Given the description of an element on the screen output the (x, y) to click on. 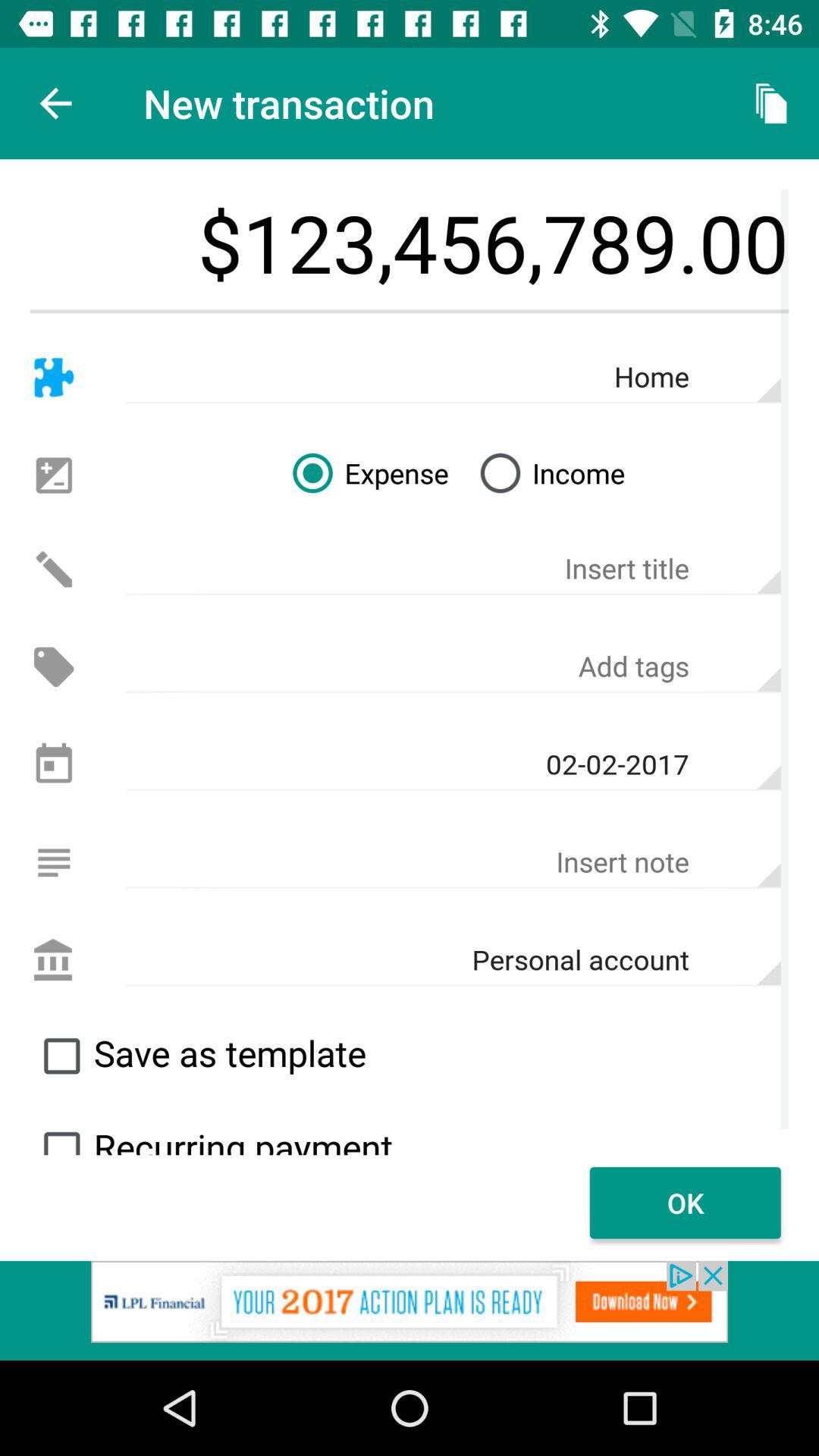
edit (53, 569)
